Given the description of an element on the screen output the (x, y) to click on. 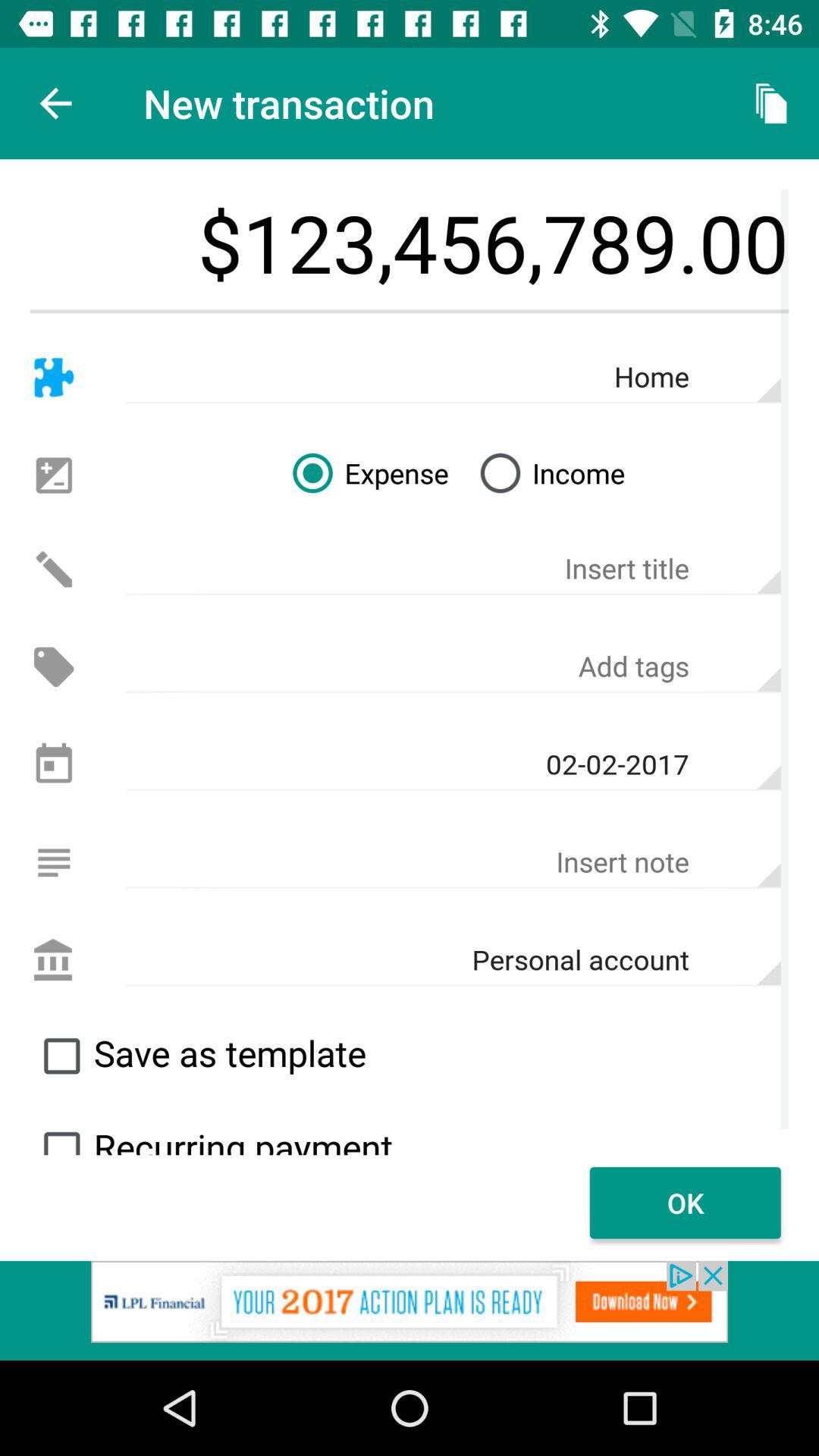
edit (53, 569)
